Given the description of an element on the screen output the (x, y) to click on. 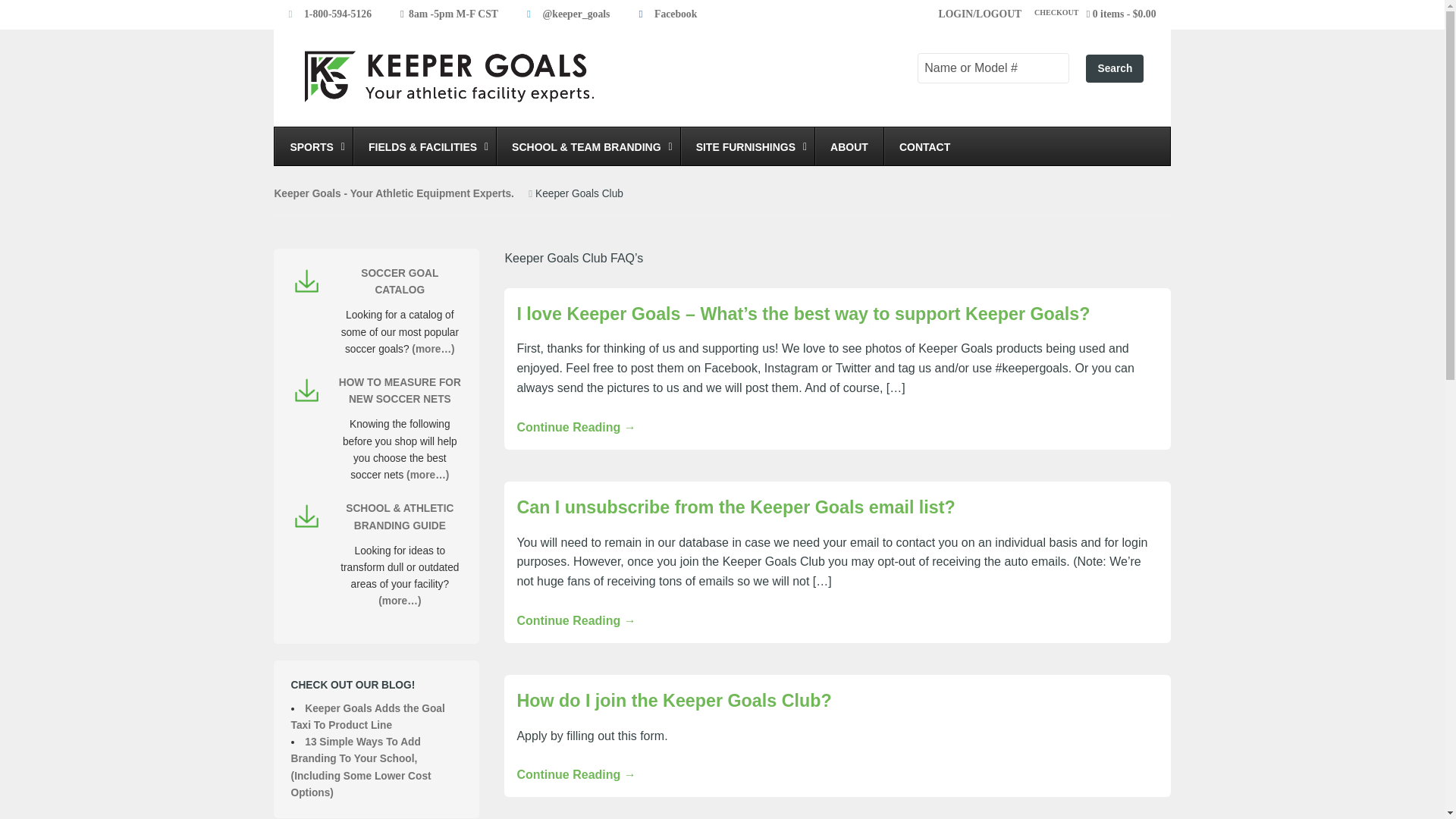
Keeper Goals - Your Athletic Equipment Experts. (393, 193)
Start shopping (1125, 14)
Search (1114, 68)
Search (1114, 68)
SPORTS (313, 145)
CHECKOUT (1050, 13)
Facebook (675, 13)
1-800-594-5126 (337, 13)
